Given the description of an element on the screen output the (x, y) to click on. 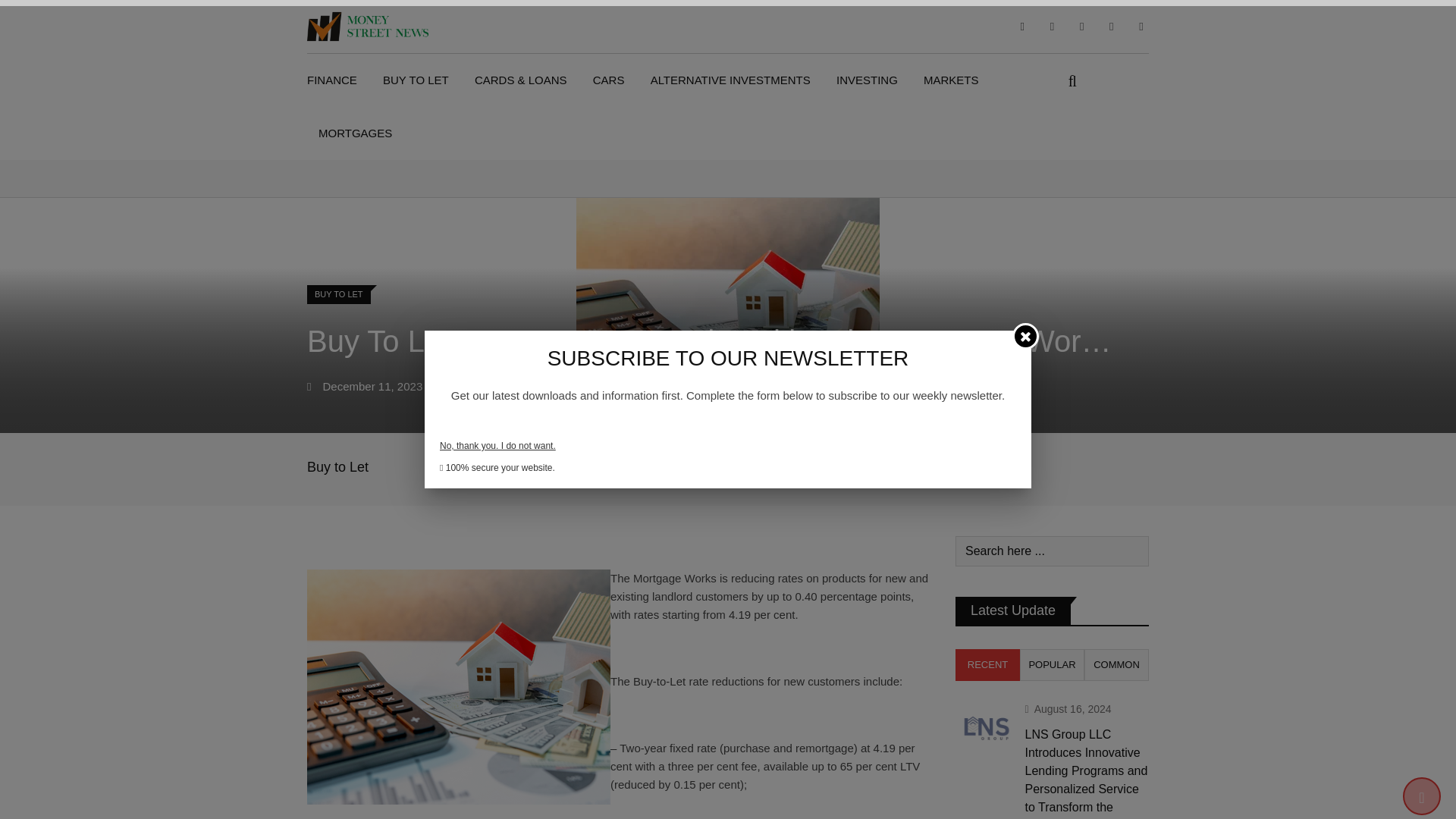
FINANCE (337, 80)
BUY TO LET (415, 80)
Buy to Let (337, 467)
CARS (608, 80)
MORTGAGES (355, 133)
BUY TO LET (344, 292)
ALTERNATIVE INVESTMENTS (730, 80)
MARKETS (951, 80)
INVESTING (866, 80)
